Given the description of an element on the screen output the (x, y) to click on. 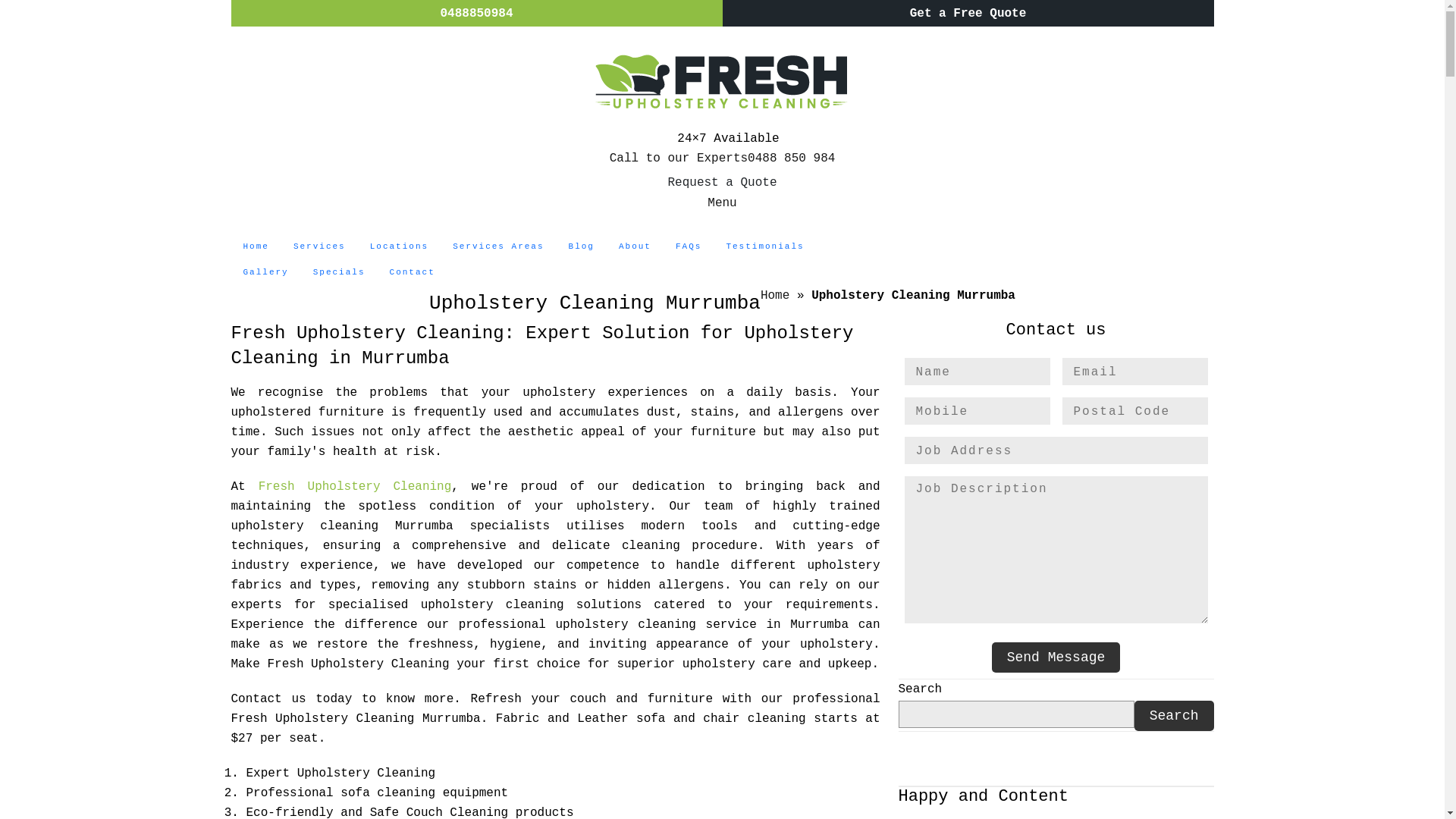
0488850984 Element type: text (475, 13)
Services Areas Element type: text (497, 247)
Contact Element type: text (412, 272)
Locations Element type: text (398, 247)
FAQs Element type: text (688, 247)
Home Element type: text (774, 295)
Get a Free Quote Element type: text (967, 13)
Call to our Experts0488 850 984 Element type: text (721, 158)
Gallery Element type: text (265, 272)
Search Element type: text (1174, 715)
Send Message Element type: text (1055, 657)
Request a Quote Element type: text (721, 182)
Menu Element type: text (721, 203)
Blog Element type: text (581, 247)
Fresh Upholstery Cleaning Element type: text (348, 486)
Home Element type: text (255, 247)
Services Element type: text (319, 247)
Testimonials Element type: text (764, 247)
Specials Element type: text (339, 272)
About Element type: text (634, 247)
